Given the description of an element on the screen output the (x, y) to click on. 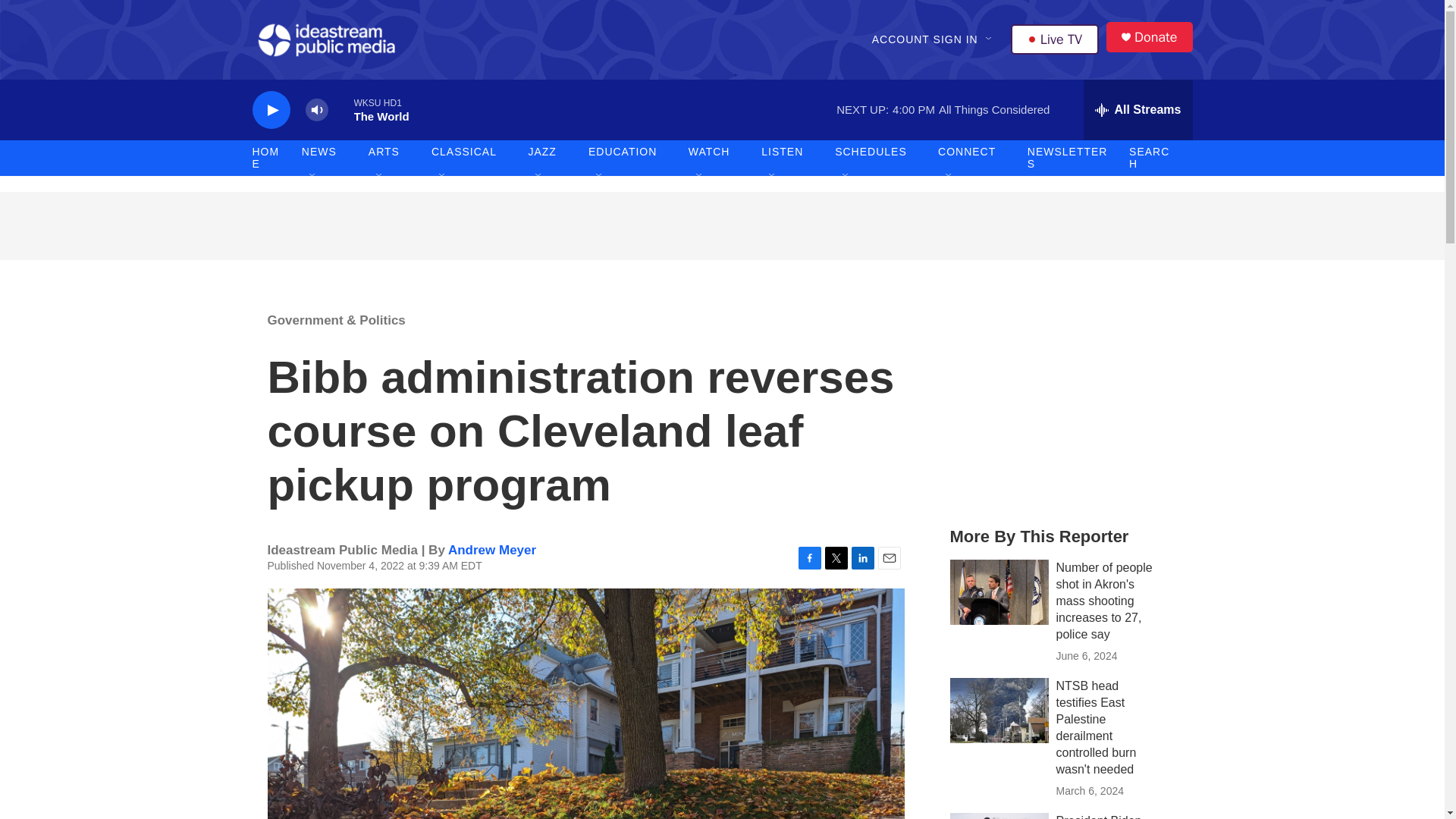
3rd party ad content (721, 225)
3rd party ad content (1062, 400)
